Given the description of an element on the screen output the (x, y) to click on. 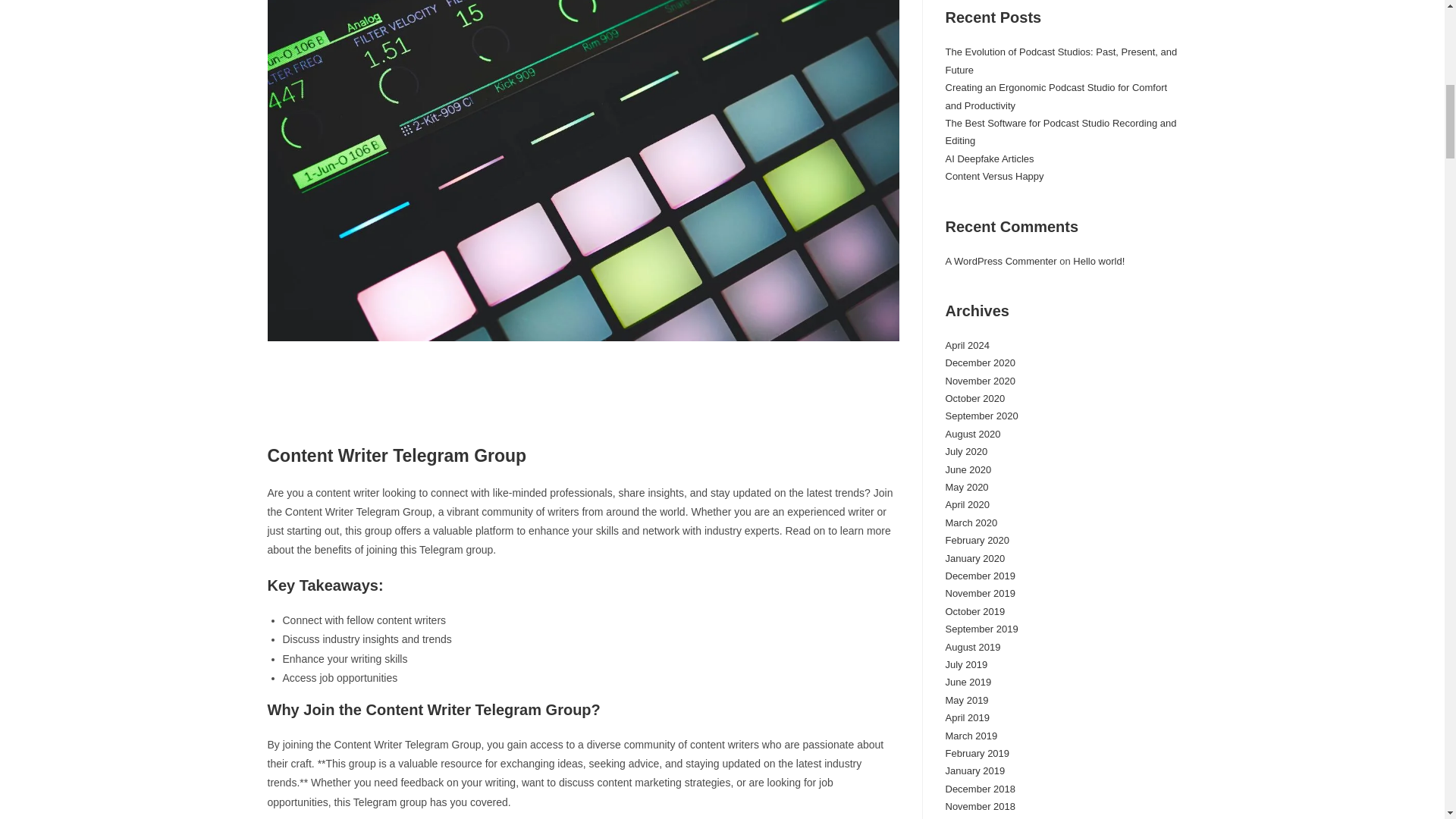
Hello world! (1098, 260)
A WordPress Commenter (1000, 260)
November 2019 (979, 593)
January 2020 (974, 558)
February 2020 (976, 540)
March 2020 (970, 522)
November 2020 (979, 380)
December 2020 (979, 362)
October 2019 (974, 611)
